Given the description of an element on the screen output the (x, y) to click on. 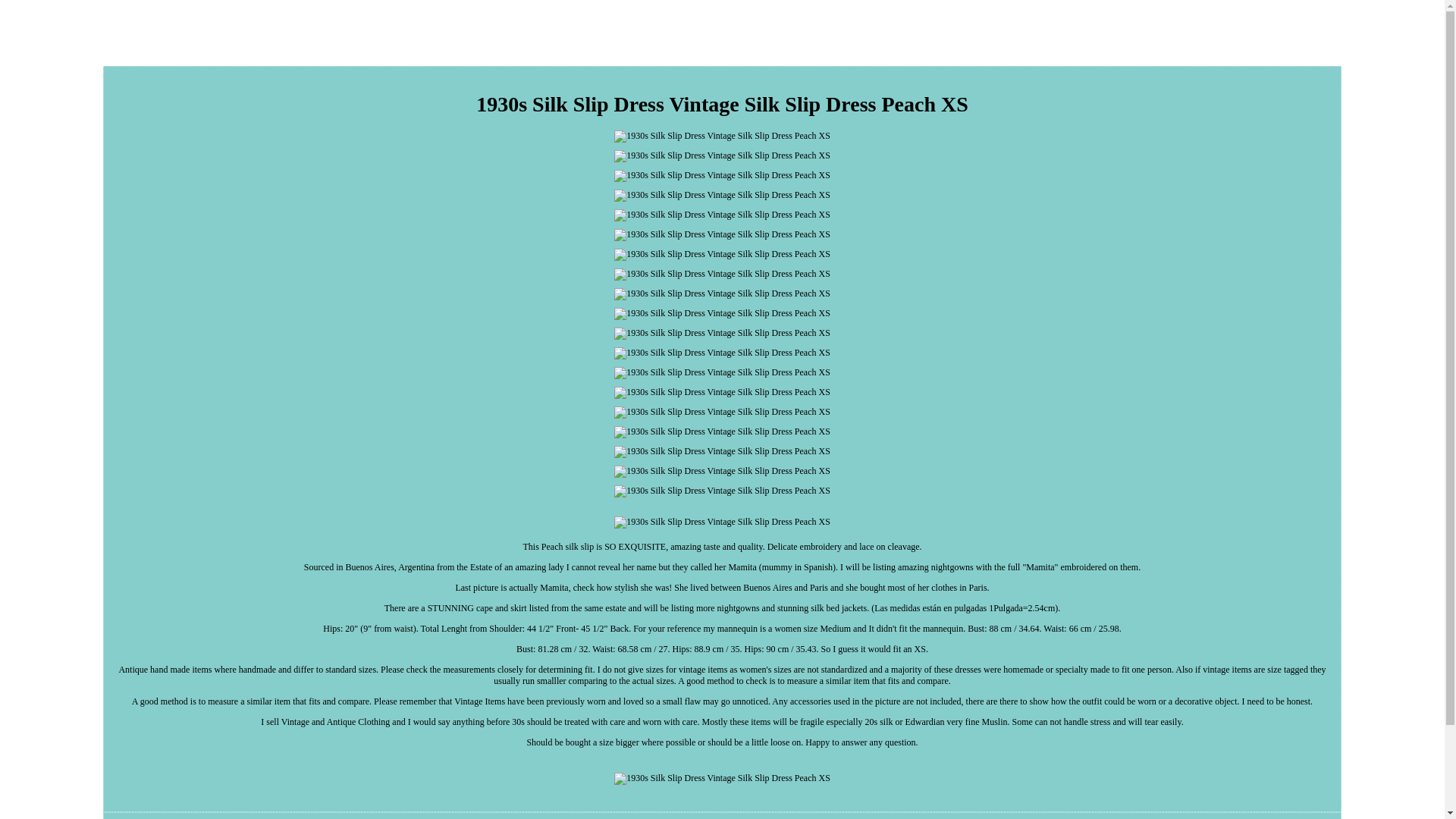
1930s Silk Slip Dress Vintage Silk Slip Dress Peach XS (721, 313)
1930s Silk Slip Dress Vintage Silk Slip Dress Peach XS (721, 431)
1930s Silk Slip Dress Vintage Silk Slip Dress Peach XS (721, 333)
1930s Silk Slip Dress Vintage Silk Slip Dress Peach XS (721, 254)
1930s Silk Slip Dress Vintage Silk Slip Dress Peach XS (721, 215)
1930s Silk Slip Dress Vintage Silk Slip Dress Peach XS (721, 195)
1930s Silk Slip Dress Vintage Silk Slip Dress Peach XS (721, 522)
1930s Silk Slip Dress Vintage Silk Slip Dress Peach XS (721, 471)
1930s Silk Slip Dress Vintage Silk Slip Dress Peach XS (721, 155)
1930s Silk Slip Dress Vintage Silk Slip Dress Peach XS (721, 136)
1930s Silk Slip Dress Vintage Silk Slip Dress Peach XS (721, 392)
1930s Silk Slip Dress Vintage Silk Slip Dress Peach XS (721, 175)
1930s Silk Slip Dress Vintage Silk Slip Dress Peach XS (721, 372)
1930s Silk Slip Dress Vintage Silk Slip Dress Peach XS (721, 294)
1930s Silk Slip Dress Vintage Silk Slip Dress Peach XS (721, 353)
